Given the description of an element on the screen output the (x, y) to click on. 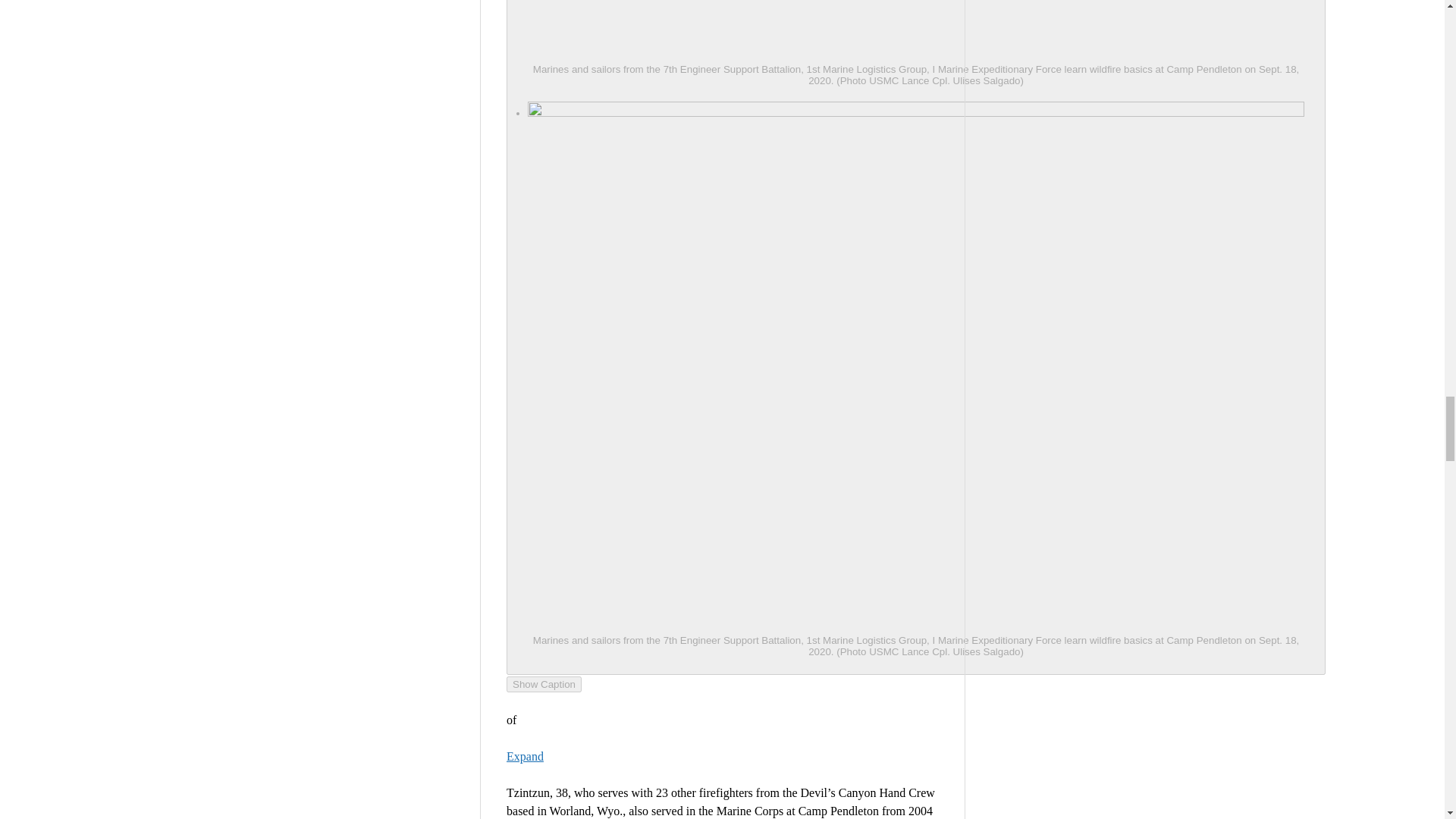
Show Caption (543, 684)
Expand (524, 756)
